Given the description of an element on the screen output the (x, y) to click on. 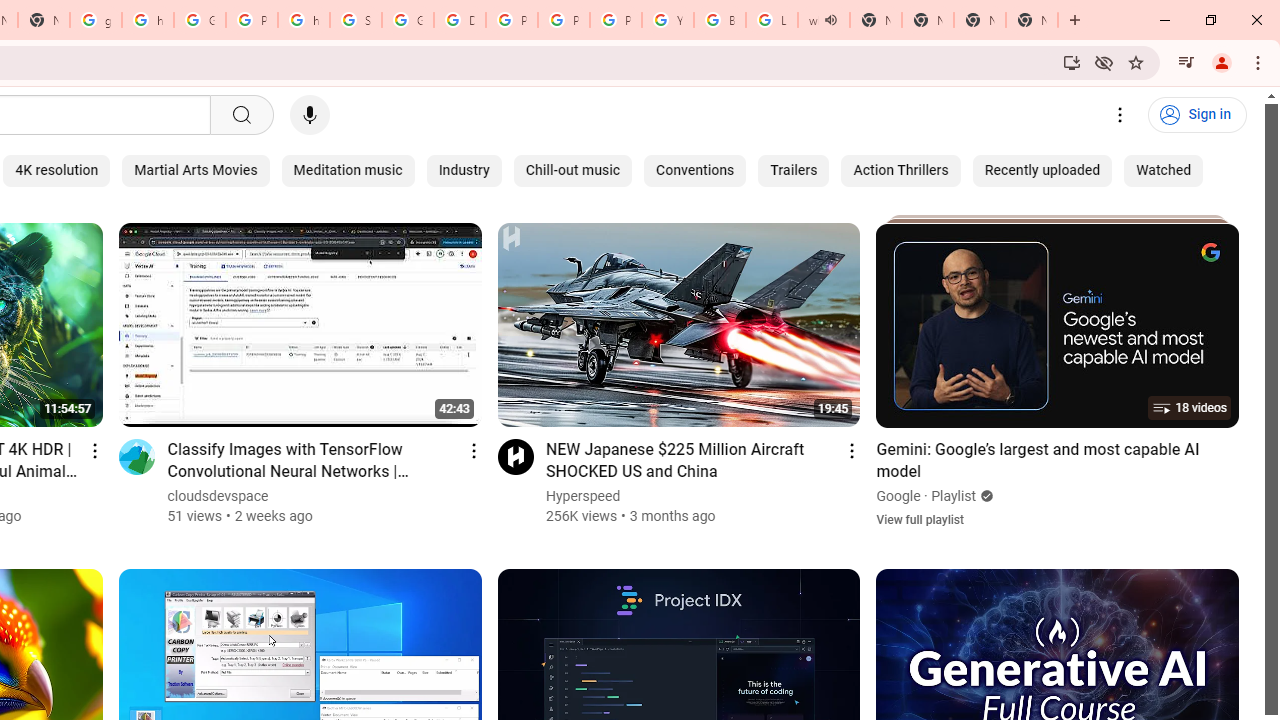
Browse Chrome as a guest - Computer - Google Chrome Help (719, 20)
Search with your voice (309, 115)
Trailers (793, 170)
Mute tab (830, 20)
Action menu (852, 449)
Verified (984, 495)
Settings (1119, 115)
Meditation music (347, 170)
